Given the description of an element on the screen output the (x, y) to click on. 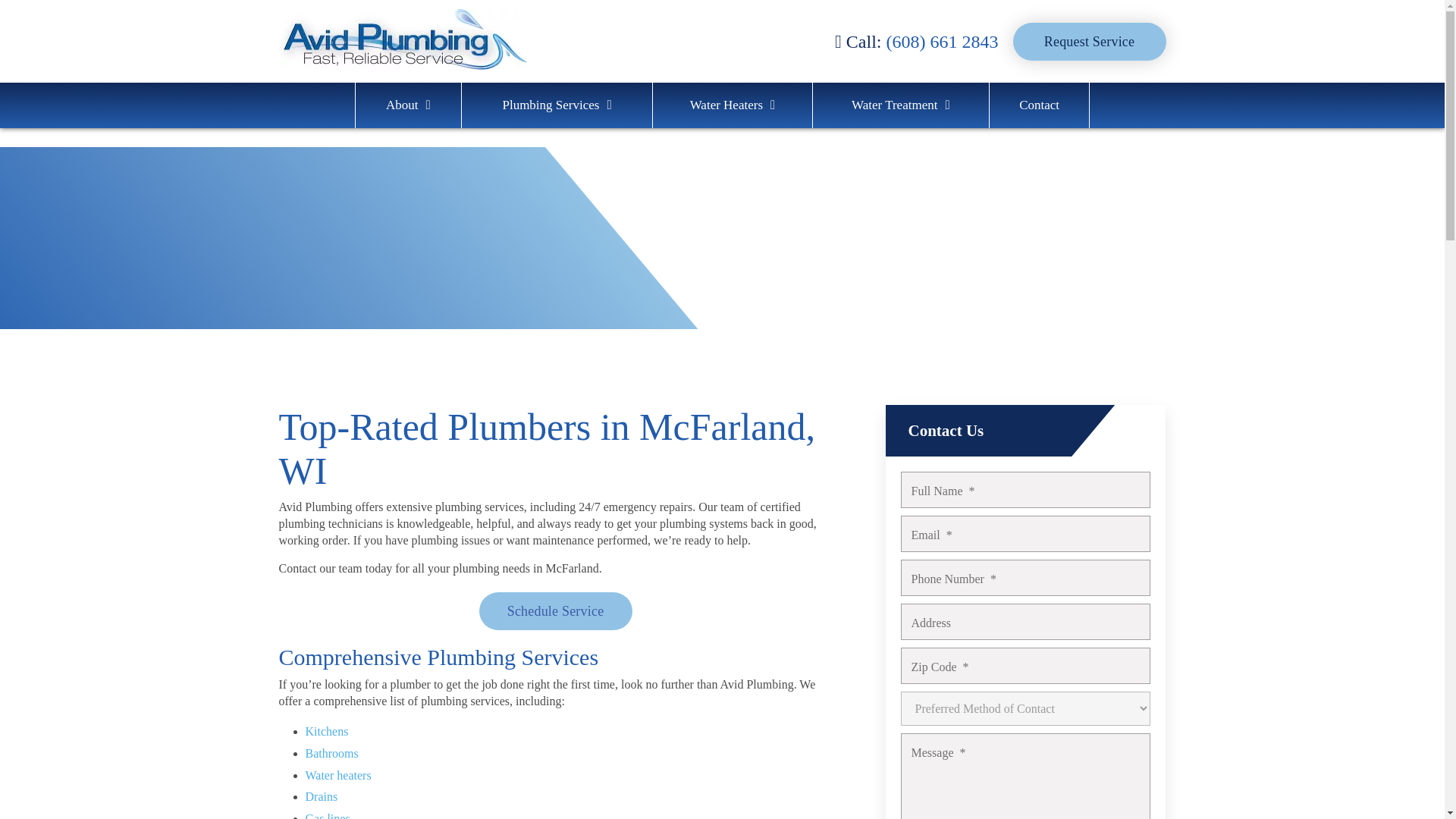
Request Service (1089, 41)
Plumbing Services (556, 104)
About (408, 104)
Plumbing Services (556, 104)
Water Heaters (732, 104)
